Given the description of an element on the screen output the (x, y) to click on. 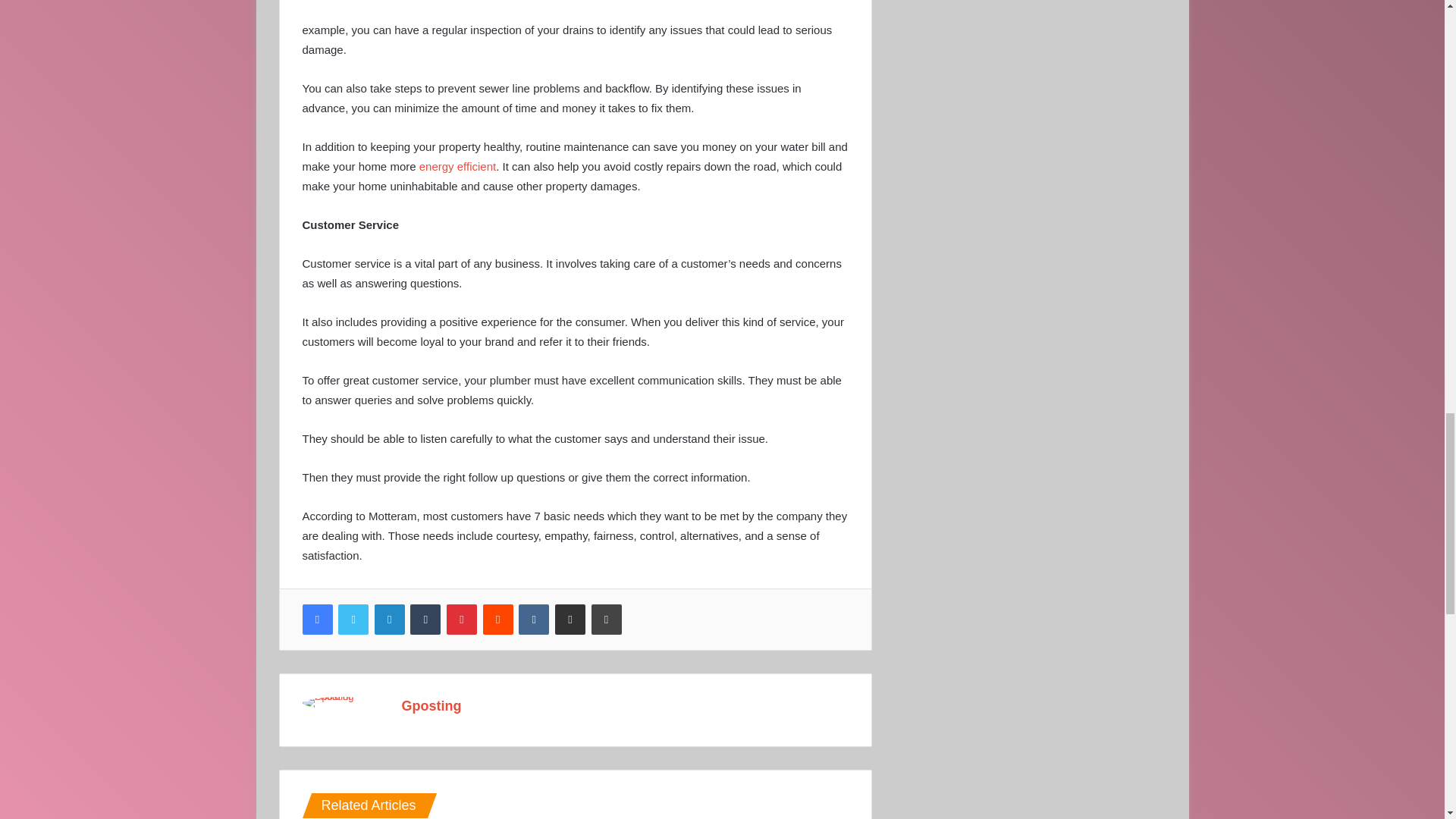
Pinterest (461, 619)
Share via Email (569, 619)
Share via Email (569, 619)
Tumblr (425, 619)
VKontakte (533, 619)
Print (606, 619)
VKontakte (533, 619)
energy efficient (457, 165)
Facebook (316, 619)
Twitter (352, 619)
